Given the description of an element on the screen output the (x, y) to click on. 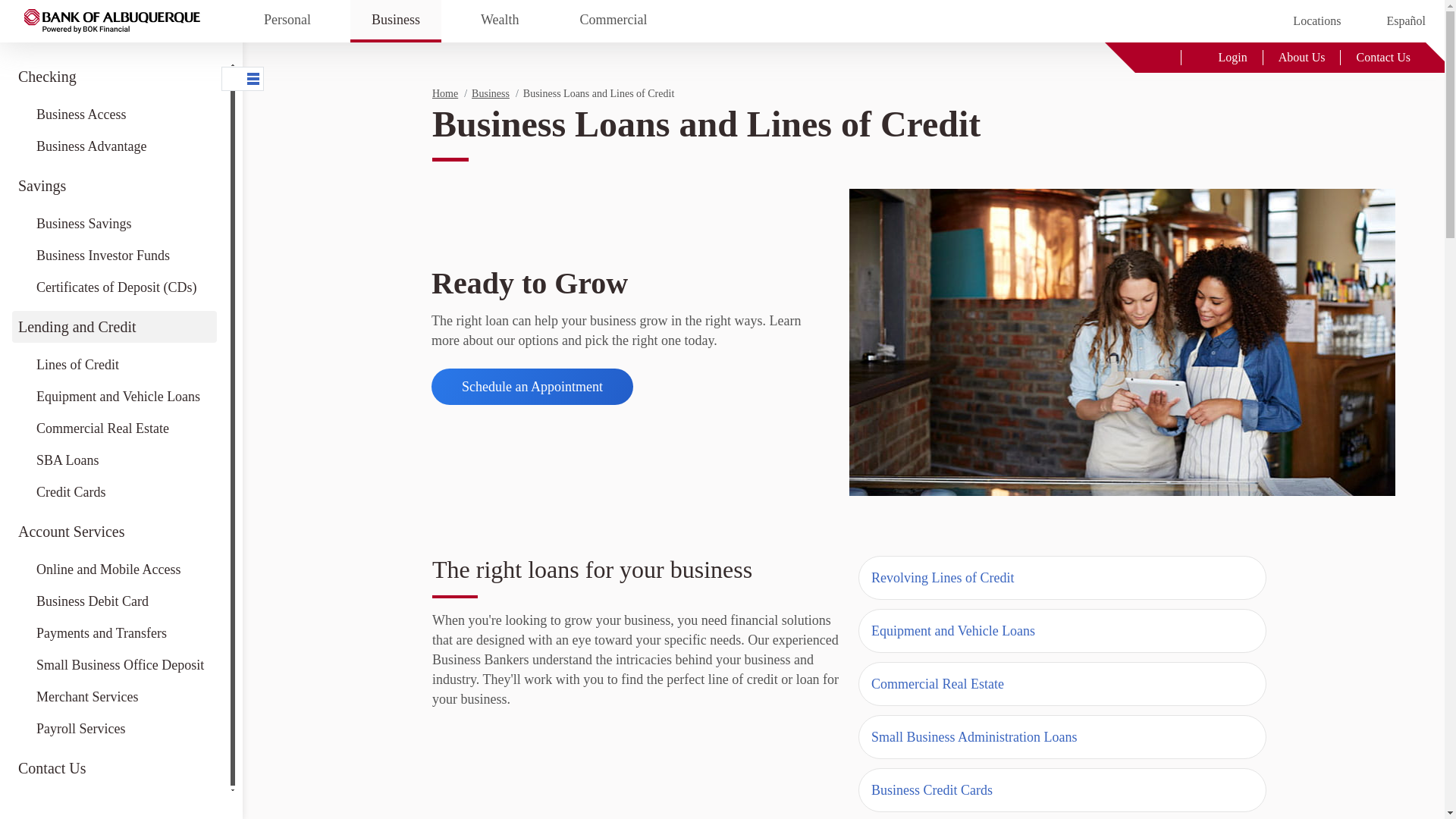
Account Services (113, 531)
Savings (113, 185)
Commercial (613, 21)
Business (395, 21)
Business Investor Funds (113, 255)
Equipment and Vehicle Loans (113, 396)
Business Access (113, 114)
Commercial Real Estate (113, 428)
Payments and Transfers (113, 633)
Personal (287, 21)
Checking (113, 76)
Lines of Credit (113, 364)
Business Debit Card (113, 601)
Merchant Services (113, 696)
Wealth (500, 21)
